Given the description of an element on the screen output the (x, y) to click on. 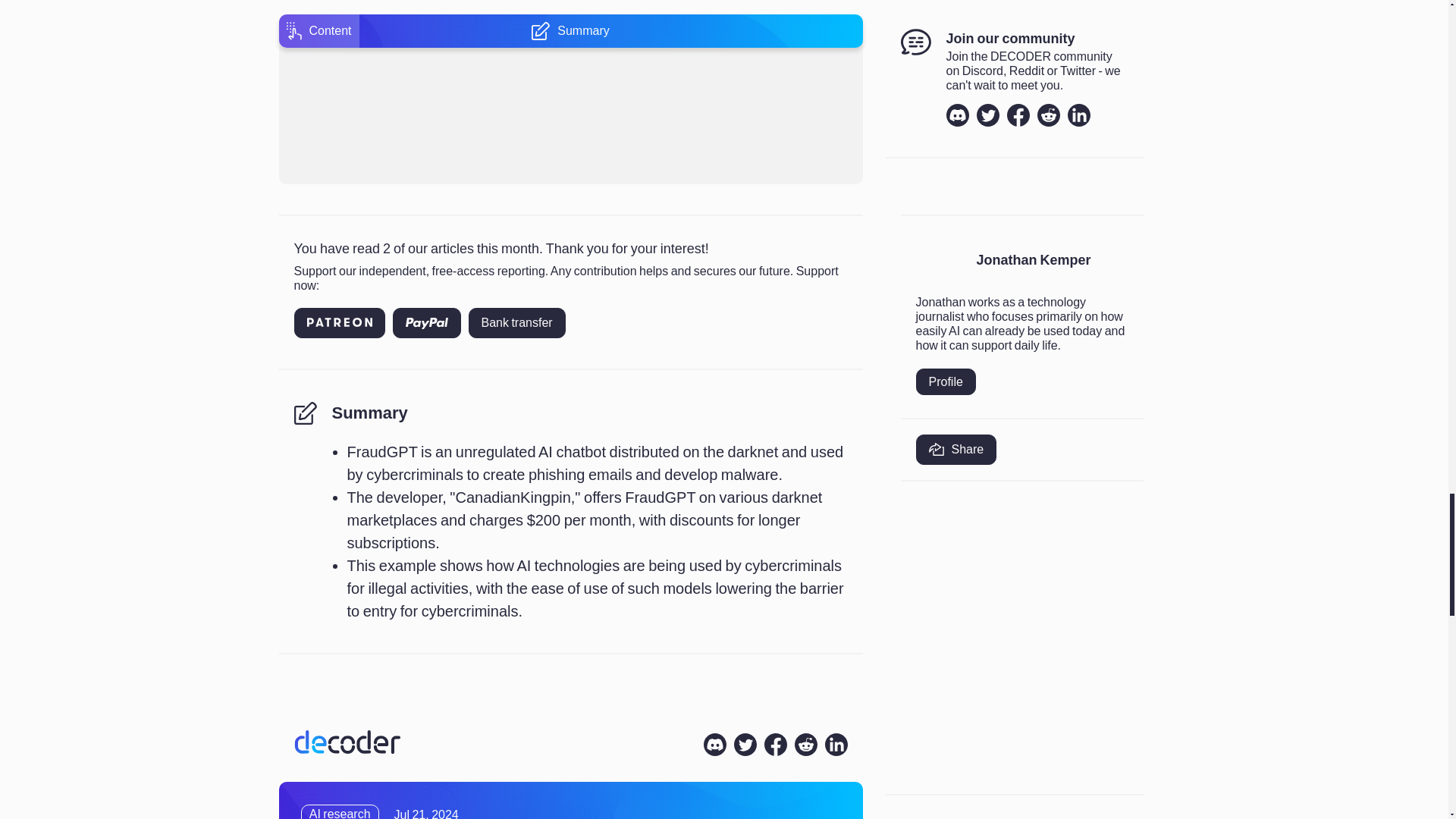
Discord (957, 115)
LinkedIn (1078, 115)
Reddit (805, 744)
Profile (945, 381)
Facebook (1018, 115)
Jonathan Kemper (1033, 260)
Reddit (1047, 115)
Facebook (775, 744)
Twitter (987, 115)
LinkedIn (836, 744)
Share (956, 449)
Discord (714, 744)
Twitter (745, 744)
